Given the description of an element on the screen output the (x, y) to click on. 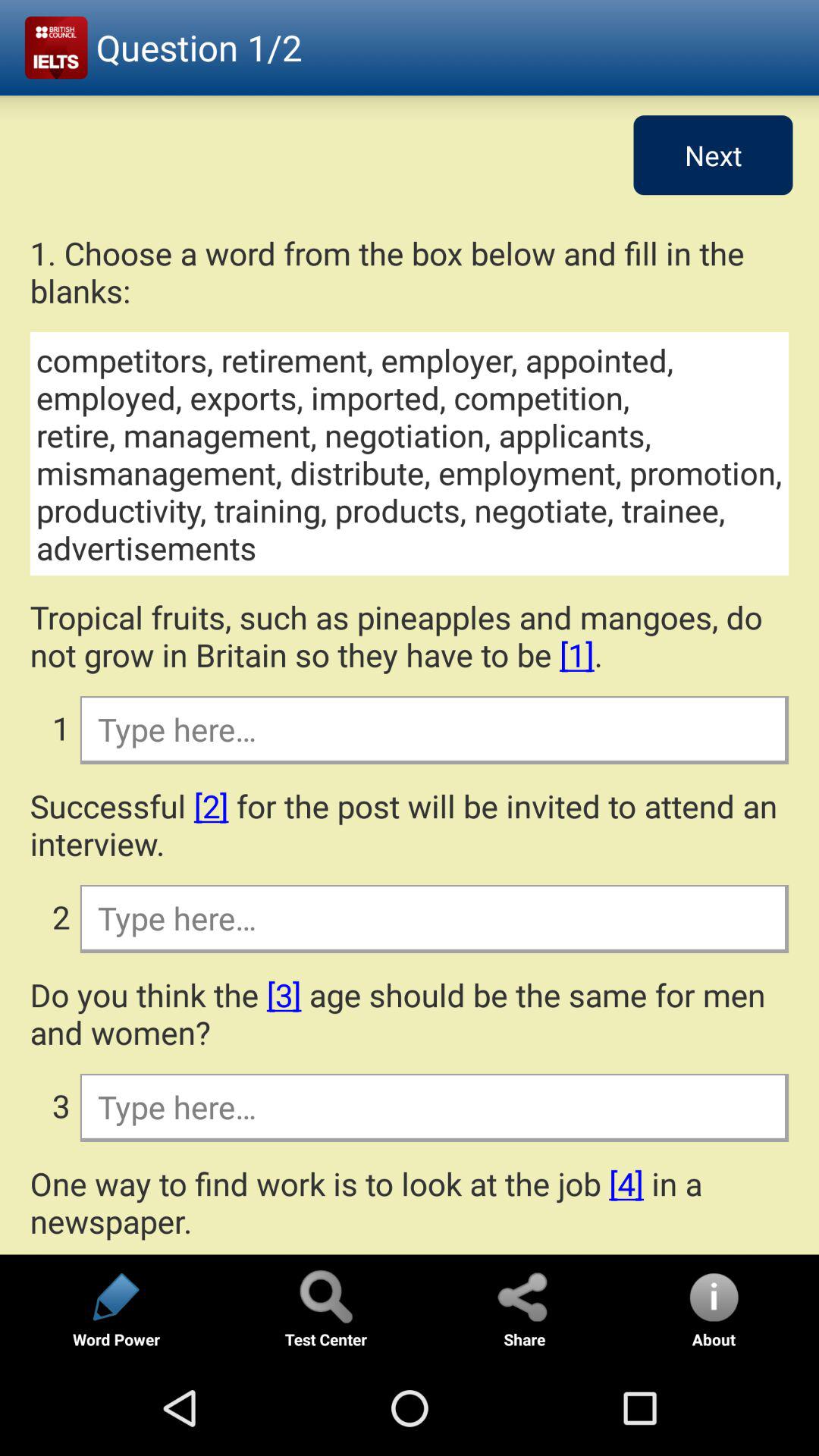
turn off the item above tropical fruits such item (409, 453)
